Given the description of an element on the screen output the (x, y) to click on. 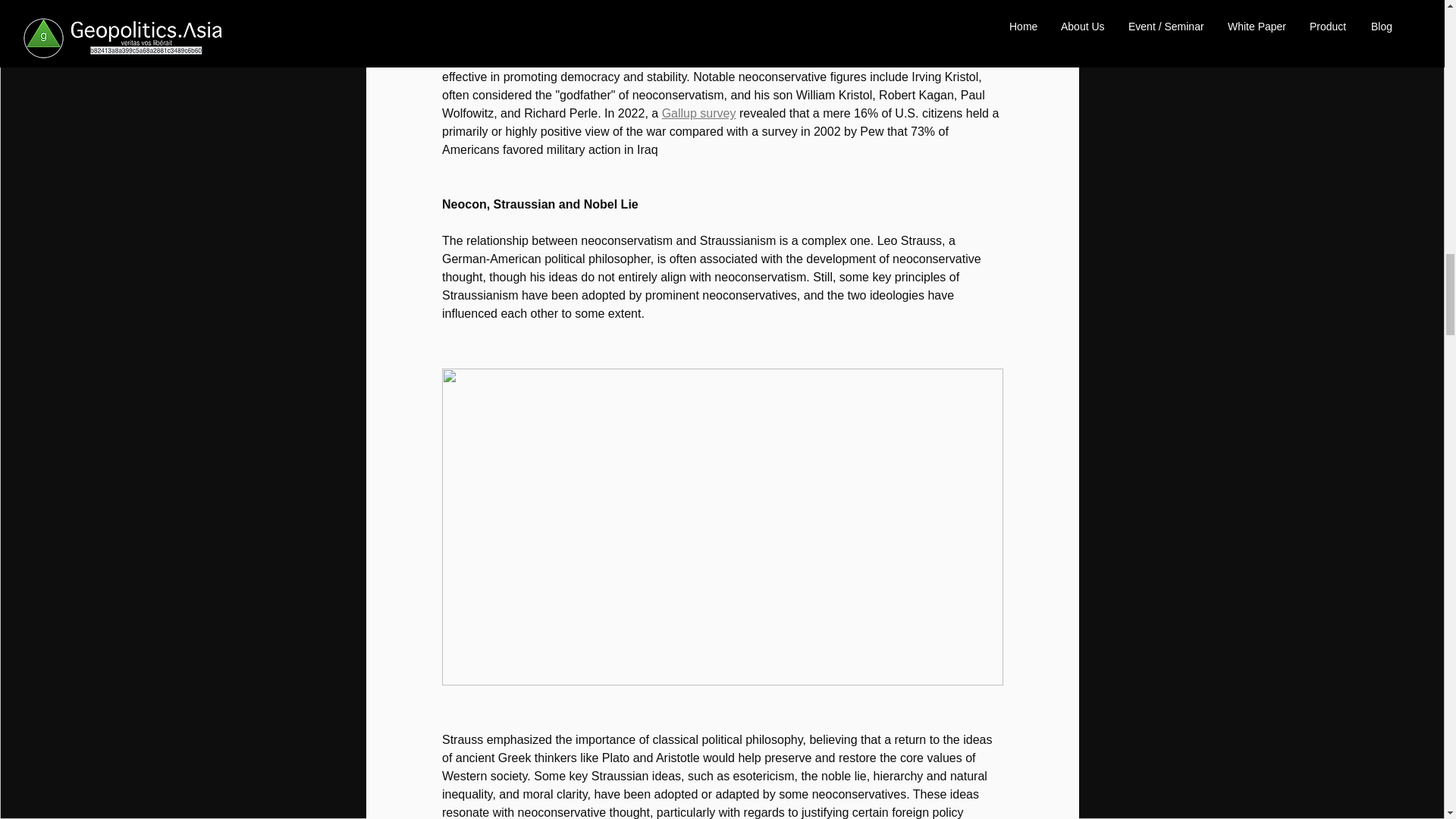
Gallup survey (698, 113)
